Given the description of an element on the screen output the (x, y) to click on. 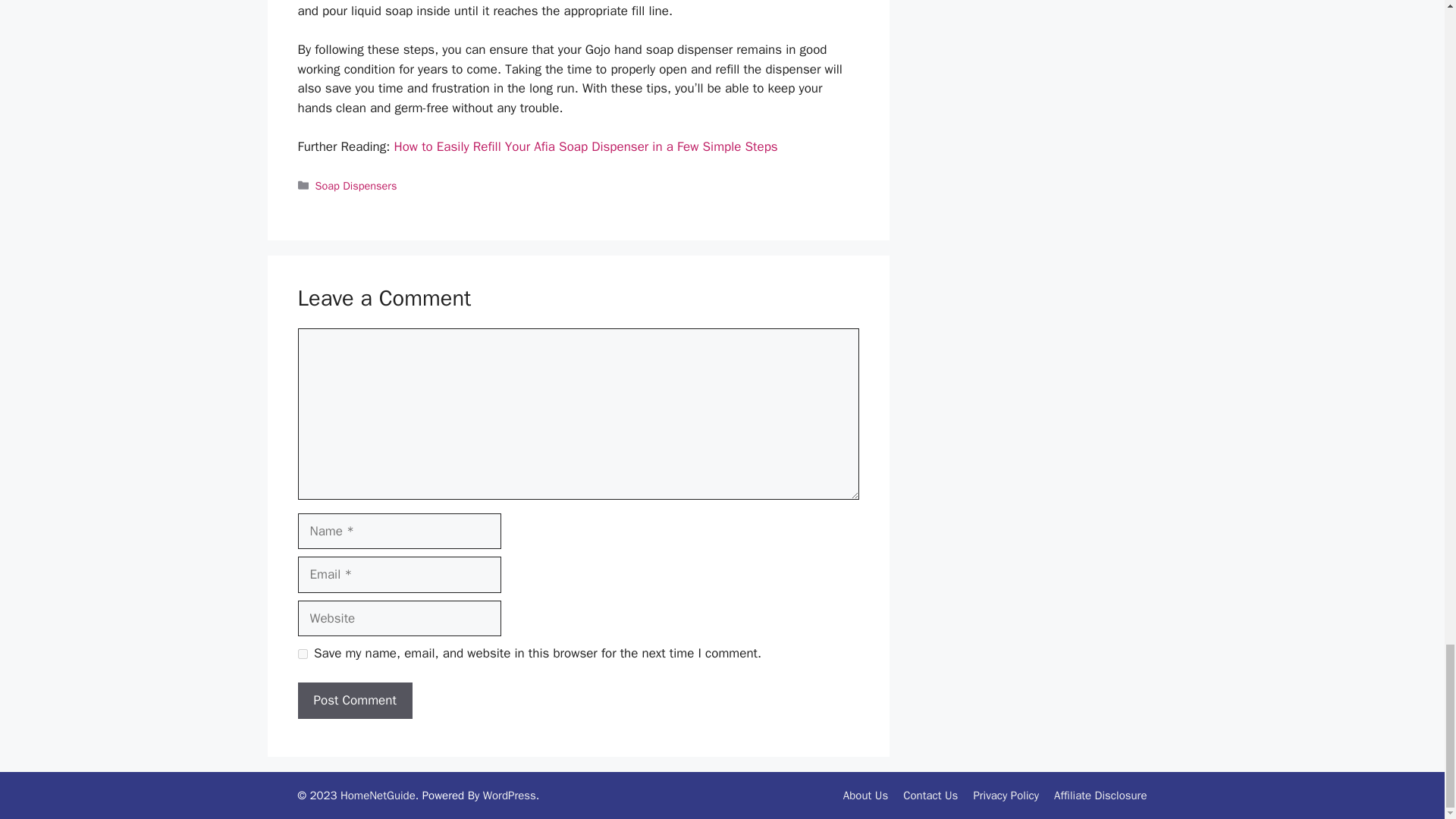
About Us (865, 795)
Soap Dispensers (356, 185)
HomeNetGuide (377, 795)
yes (302, 654)
Privacy Policy (1005, 795)
Contact Us (930, 795)
Post Comment (354, 700)
Post Comment (354, 700)
Affiliate Disclosure (1100, 795)
WordPress (509, 795)
